Given the description of an element on the screen output the (x, y) to click on. 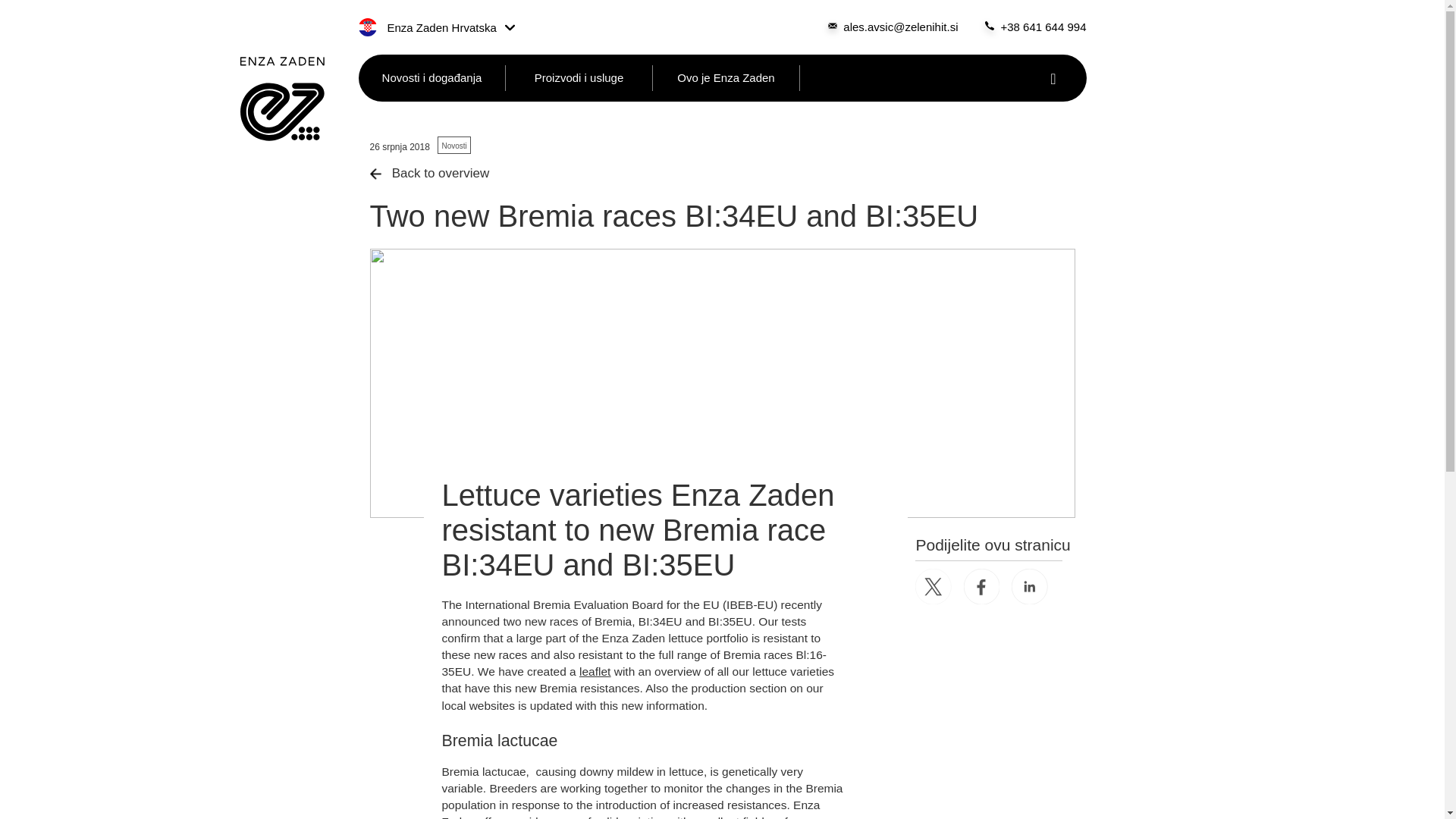
Proizvodi i usluge (578, 77)
Enza Zaden Hrvatska (435, 27)
Enza Zaden (282, 98)
Ovo je Enza Zaden (725, 77)
LinkedIn icon (1029, 586)
